Given the description of an element on the screen output the (x, y) to click on. 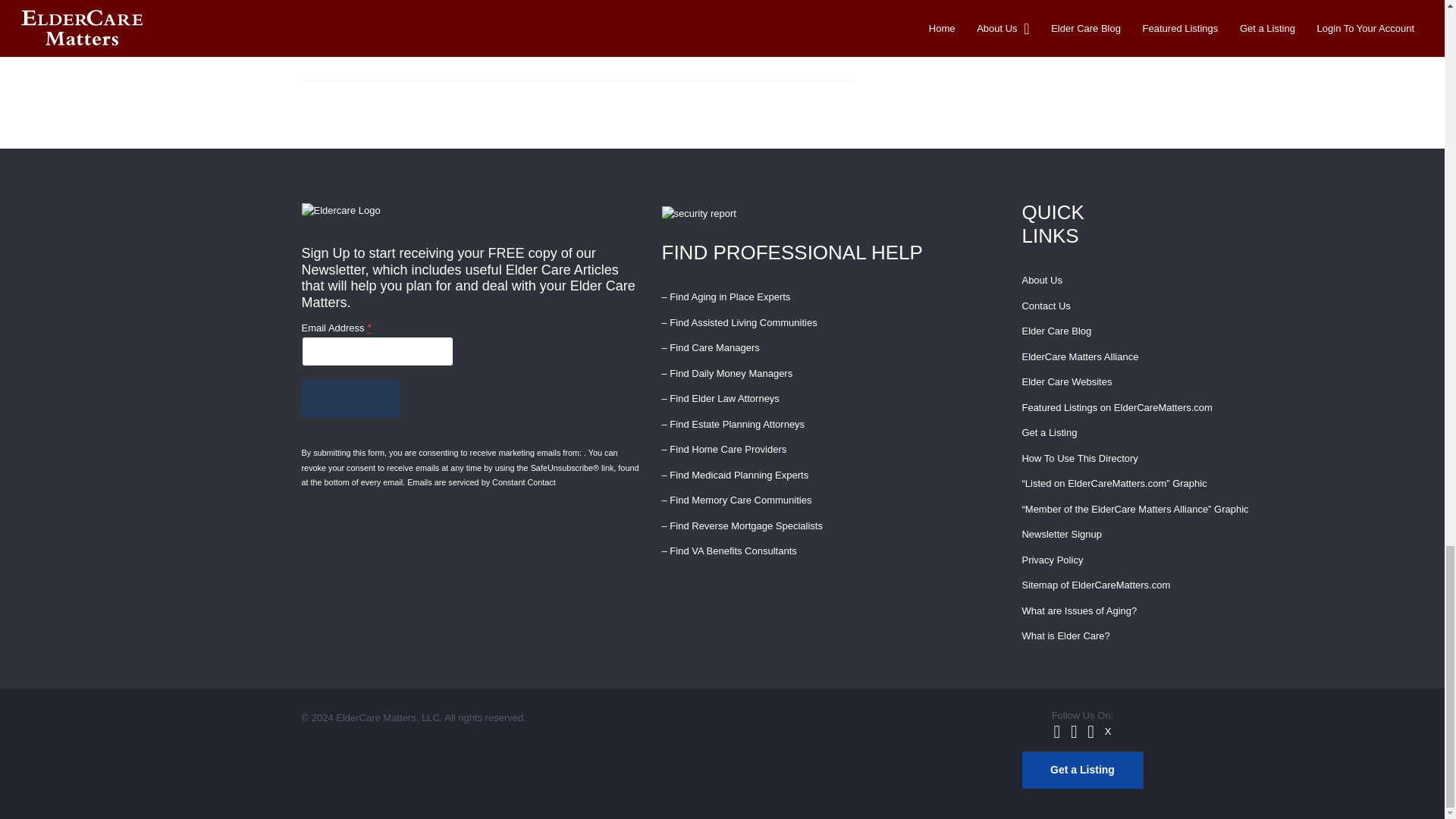
Sign Up (350, 397)
Answers (367, 18)
